Given the description of an element on the screen output the (x, y) to click on. 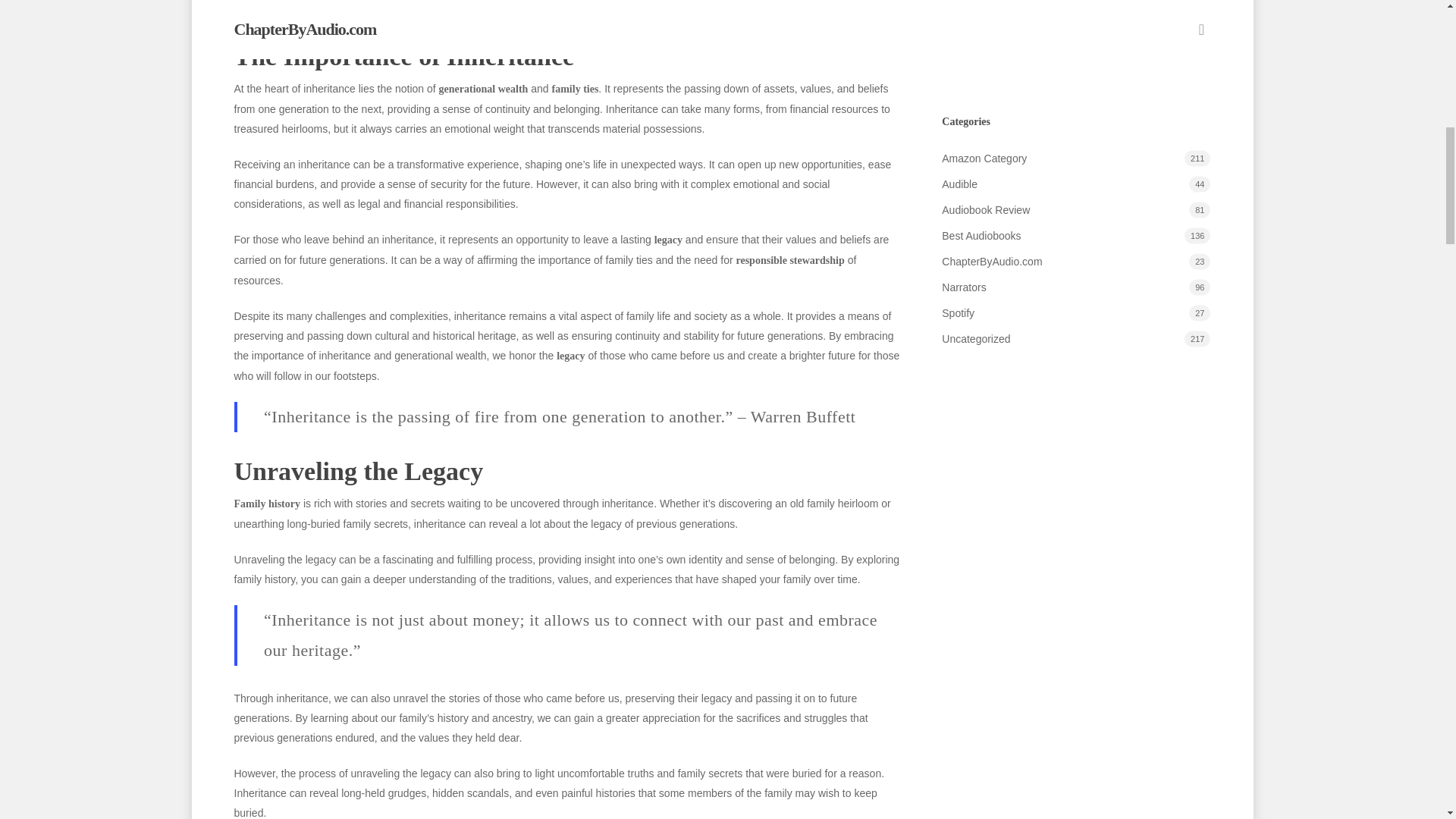
ChapterByAudio.com (1075, 301)
Uncategorized (1075, 378)
Audiobook Review (1075, 249)
Best Audiobooks (1075, 275)
Throne of Glass Unleashed: Crown of Midnight Audiobook Free (1075, 80)
Amazon Category (1075, 198)
Spotify (1075, 352)
Audible (1075, 223)
Discover the Convenience of Amazon Audio Books on iPhone (1075, 27)
Narrators (1075, 326)
